Given the description of an element on the screen output the (x, y) to click on. 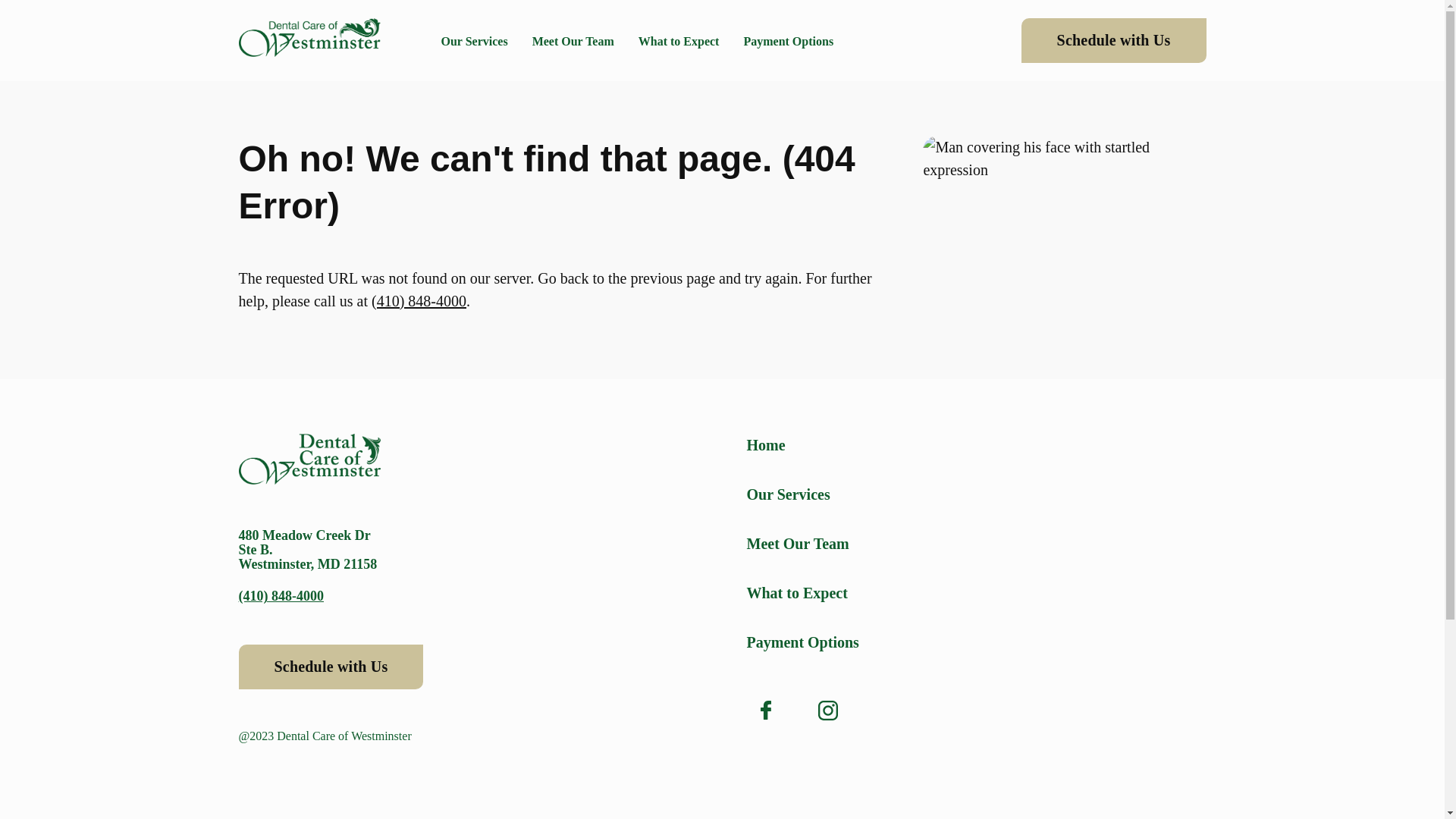
Payment Options (975, 641)
Payment Options (787, 41)
What to Expect (975, 592)
Facebook (764, 710)
Schedule with Us (1114, 40)
Our Services (474, 41)
Business Logo (309, 40)
Meet Our Team (975, 543)
Meet Our Team (573, 41)
Instagram (826, 710)
What to Expect (679, 41)
Schedule with Us (330, 666)
Home (975, 445)
Our Services (975, 494)
